Given the description of an element on the screen output the (x, y) to click on. 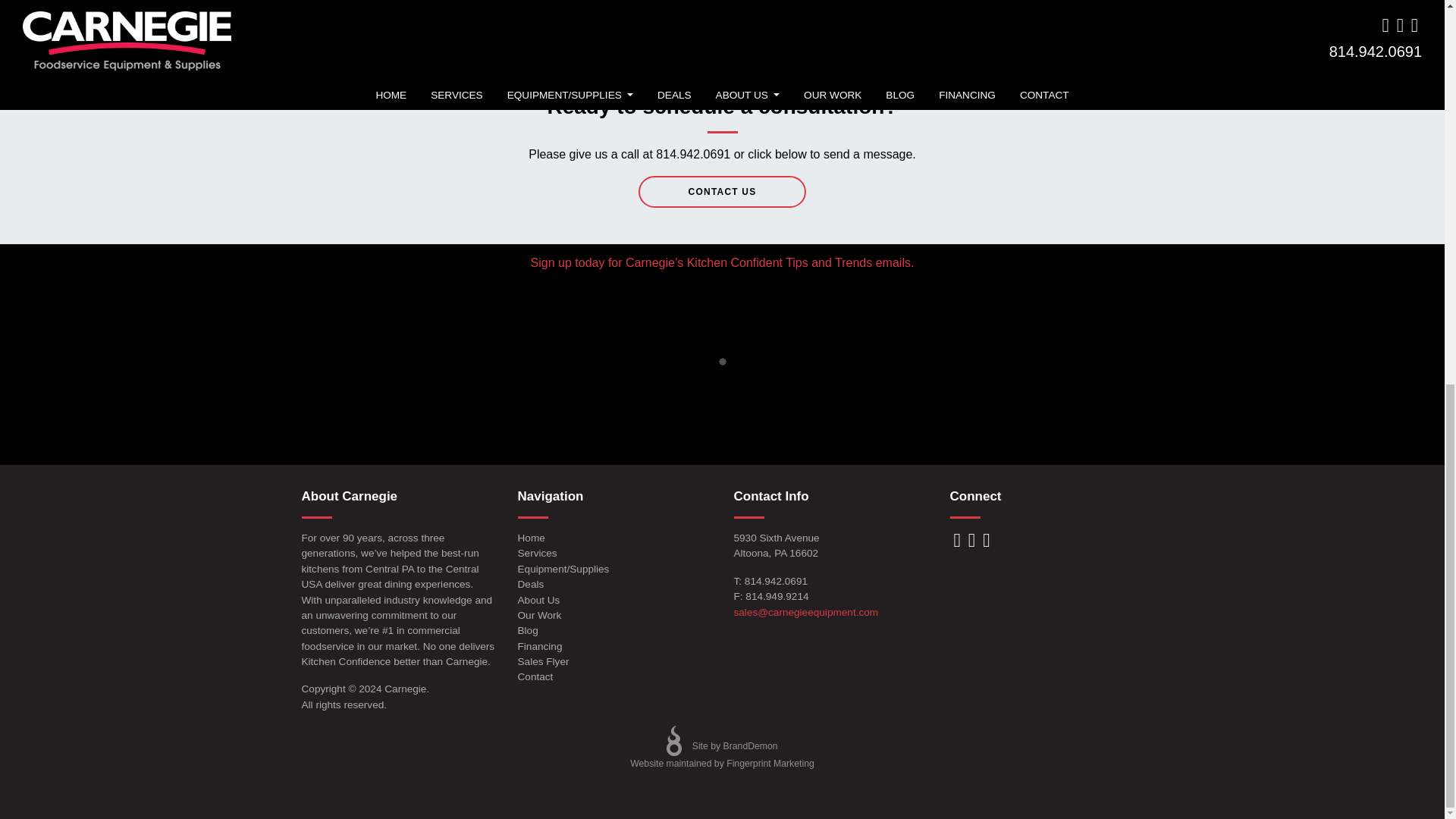
Services (613, 553)
Phil Jones  (333, 24)
CONTACT US (722, 192)
Deals (613, 584)
Our Work (613, 615)
Financing (613, 646)
About Us (613, 600)
Blog (613, 630)
Contact (613, 676)
Home (613, 538)
